Given the description of an element on the screen output the (x, y) to click on. 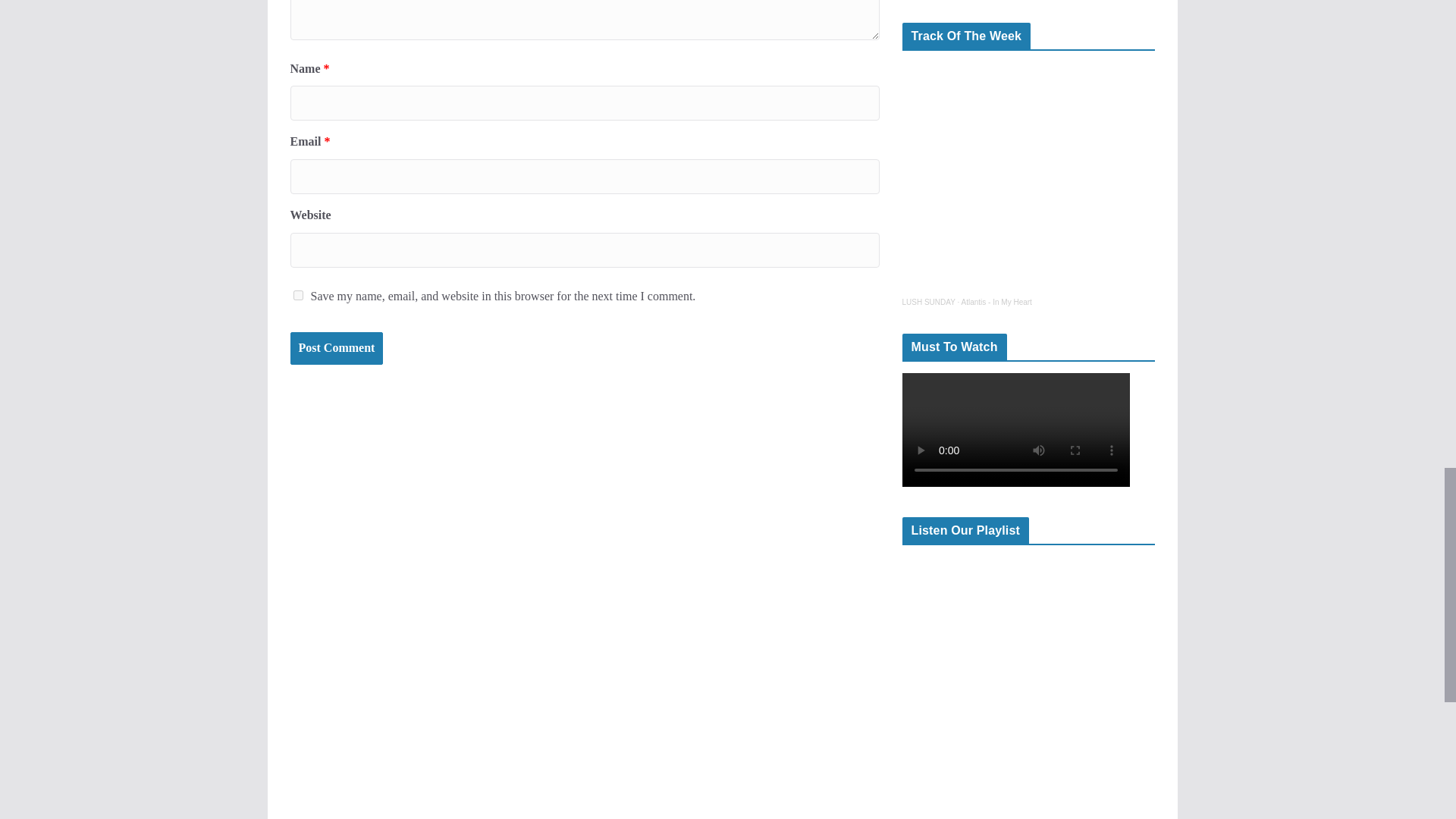
LUSH SUNDAY (928, 302)
Post Comment (335, 348)
yes (297, 295)
Post Comment (335, 348)
Atlantis - In My Heart (996, 302)
